Given the description of an element on the screen output the (x, y) to click on. 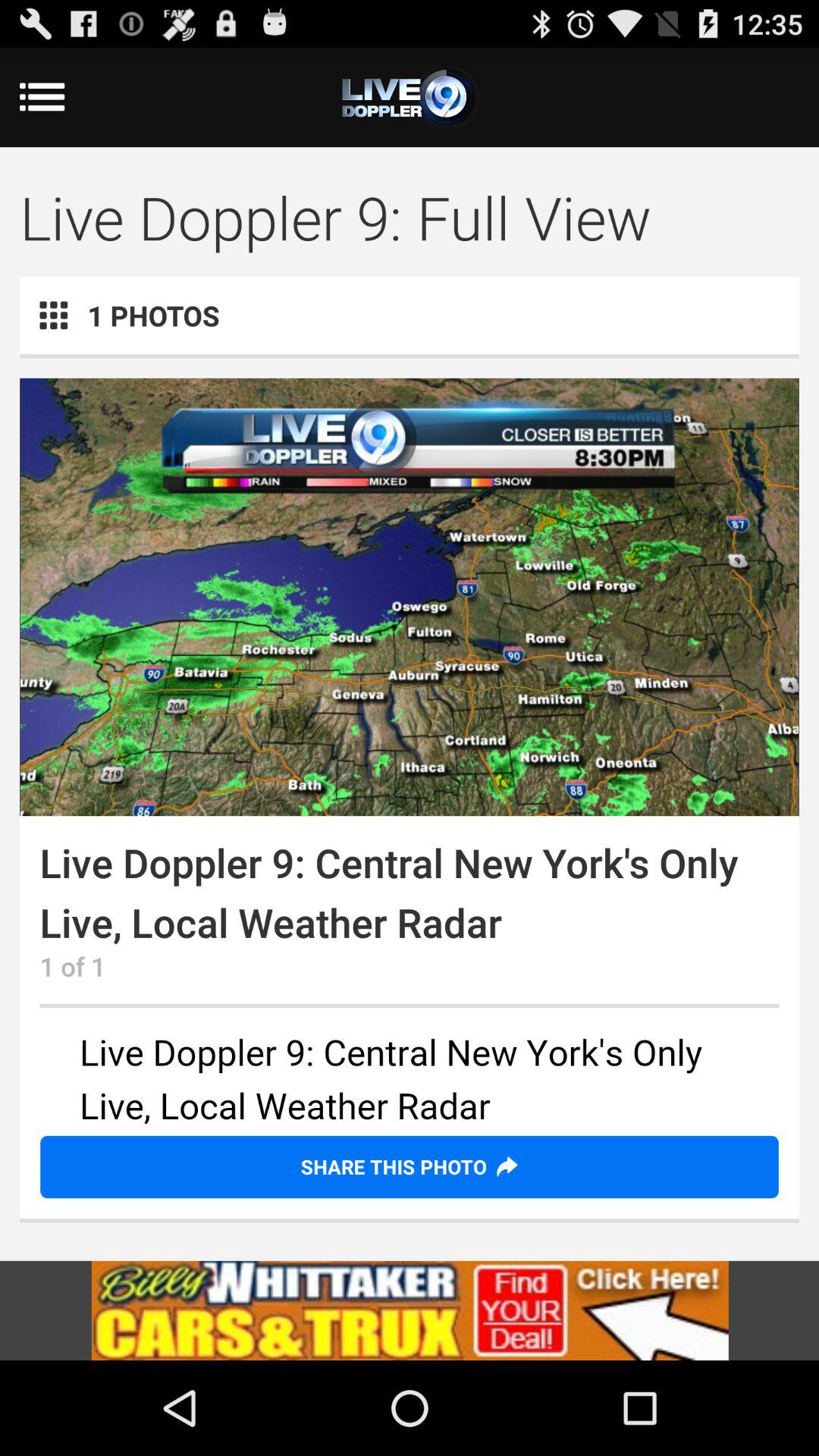
show live radar (409, 597)
